Given the description of an element on the screen output the (x, y) to click on. 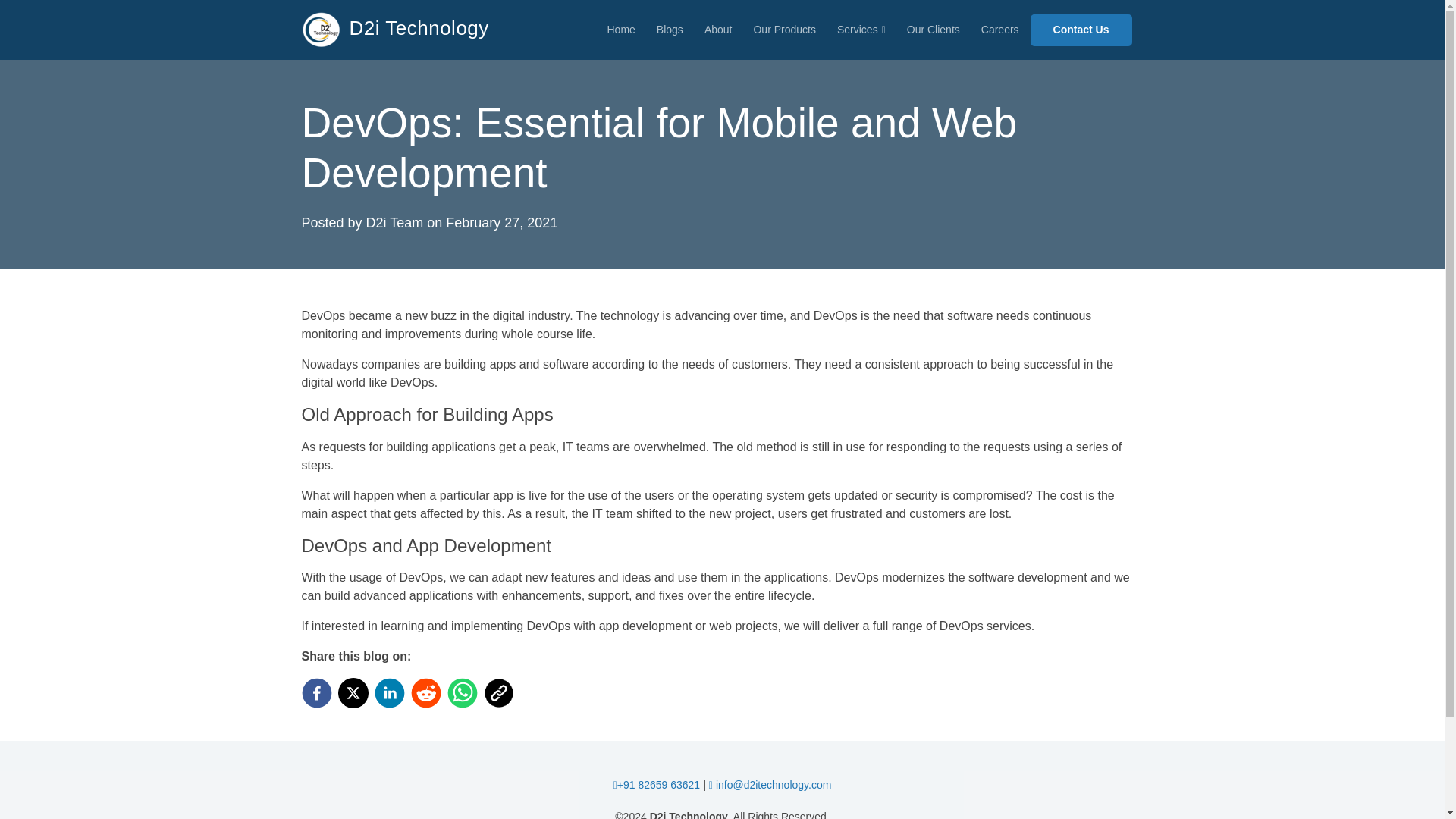
Click to Copy Link (501, 692)
Share on Twitter (355, 692)
About (718, 29)
Contact Us (1081, 29)
Share on LinkedIn (392, 692)
D2i Technology (395, 29)
Services (861, 29)
Share on WhatsApp (464, 692)
Careers (1000, 29)
Share on Reddit (428, 692)
